Given the description of an element on the screen output the (x, y) to click on. 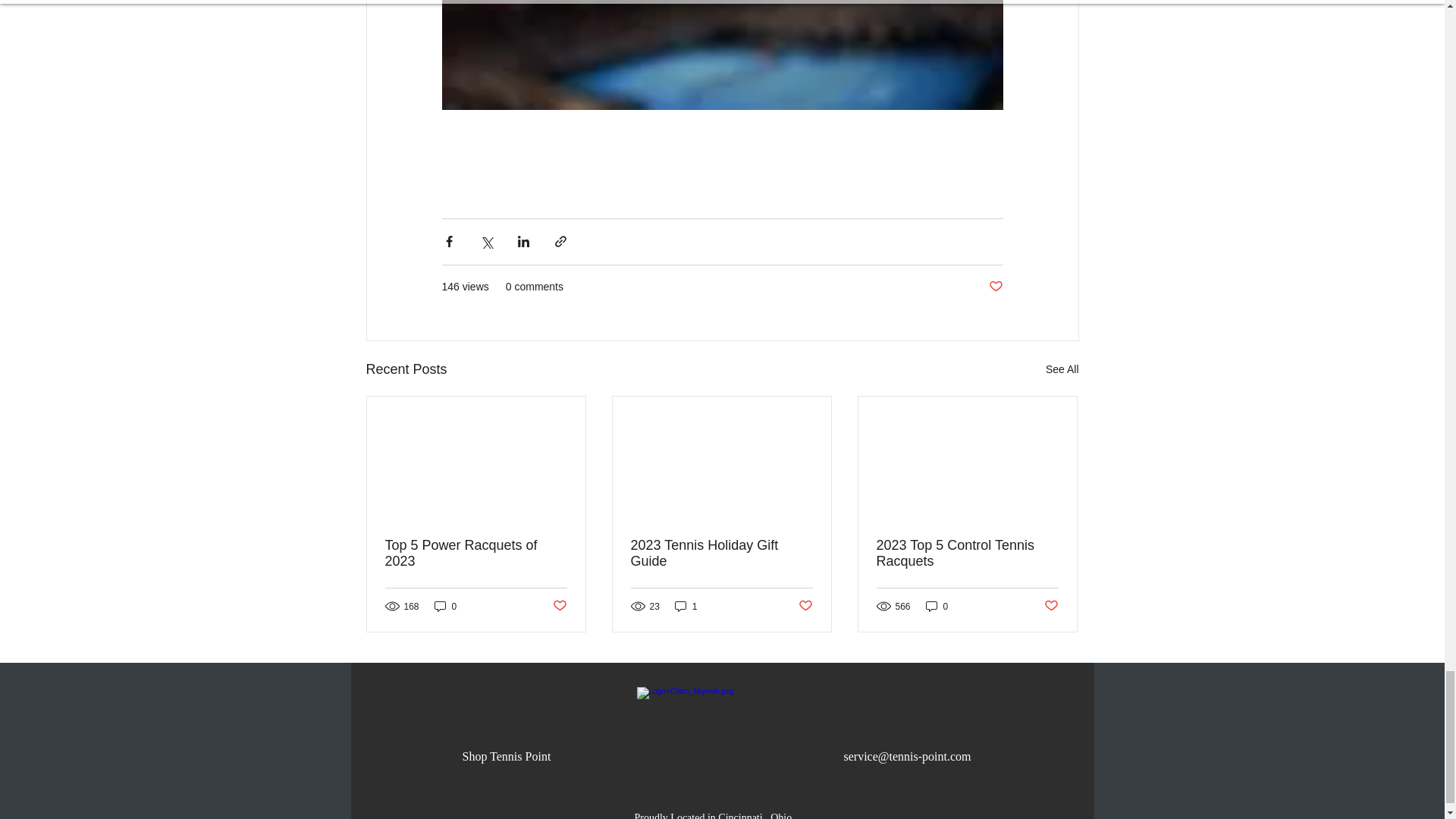
0 (937, 605)
0 (445, 605)
Post not marked as liked (804, 606)
2023 Tennis Holiday Gift Guide (721, 553)
2023 Top 5 Control Tennis Racquets (967, 553)
1 (685, 605)
Shop Tennis Point (507, 756)
Proudly Located in Cincinnati,  Ohio  (713, 815)
Post not marked as liked (558, 606)
Post not marked as liked (1050, 606)
Post not marked as liked (995, 286)
Top 5 Power Racquets of 2023 (476, 553)
See All (1061, 369)
